Given the description of an element on the screen output the (x, y) to click on. 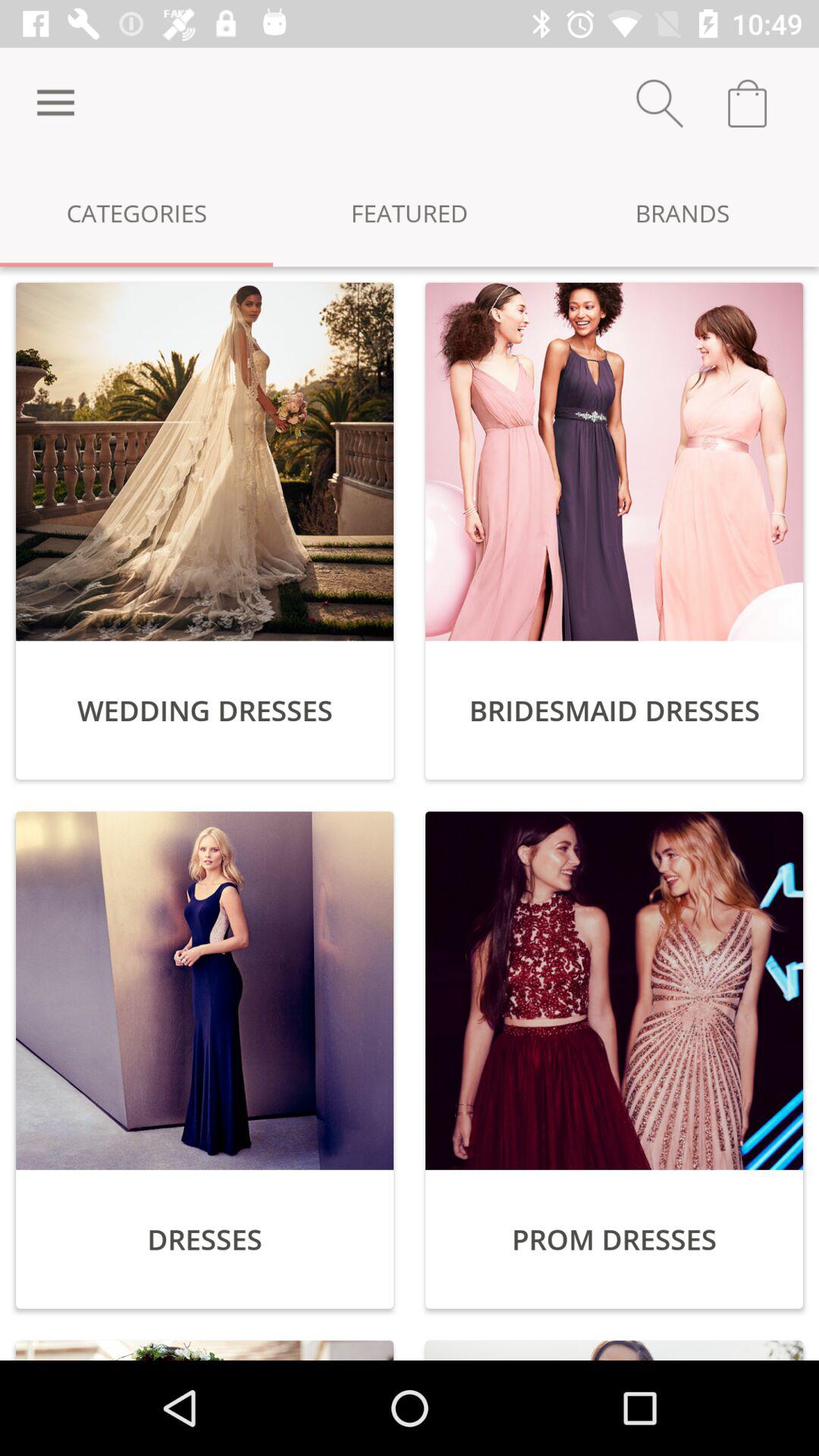
search (659, 103)
